Given the description of an element on the screen output the (x, y) to click on. 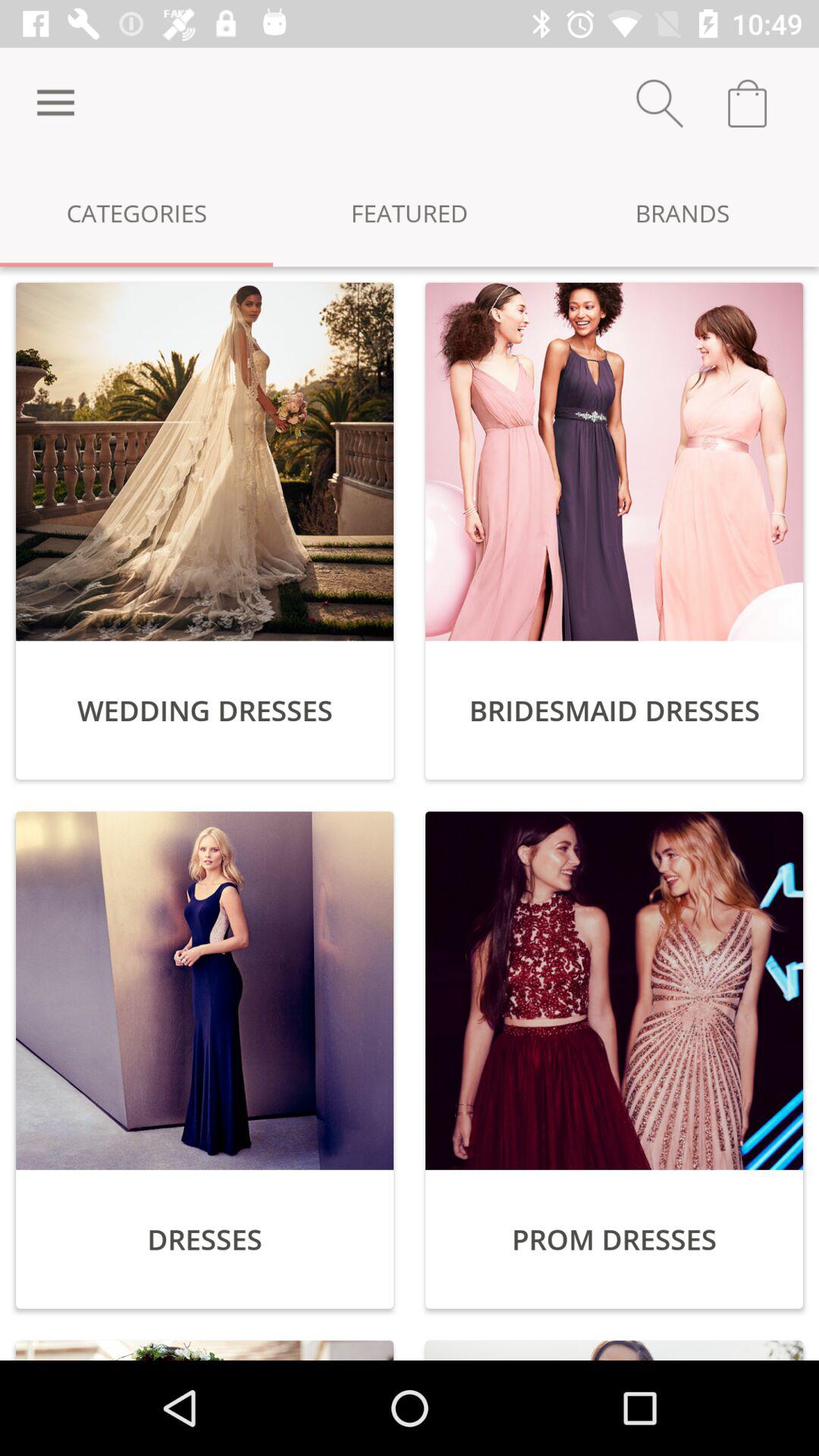
search (659, 103)
